Given the description of an element on the screen output the (x, y) to click on. 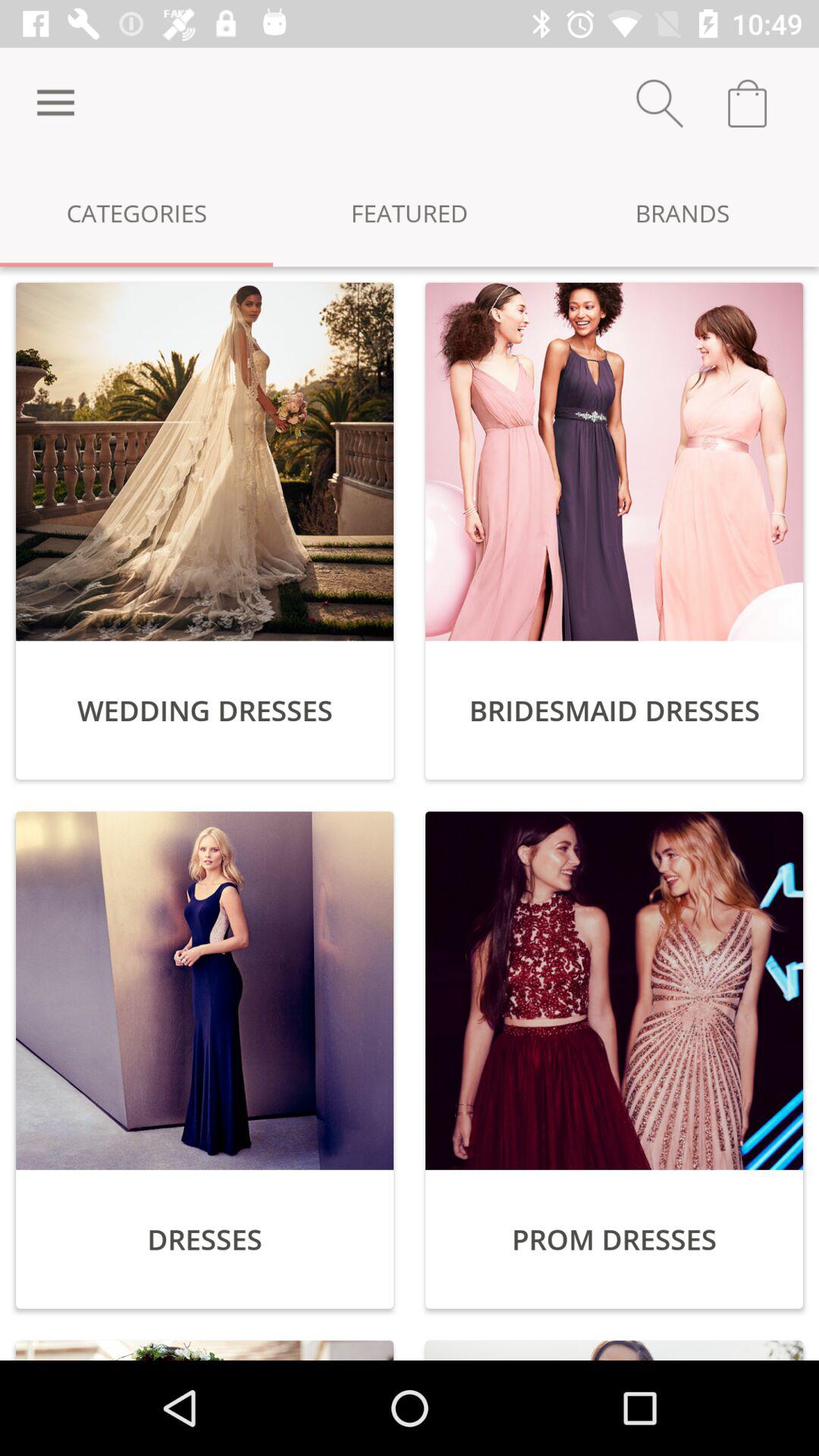
search (659, 103)
